Given the description of an element on the screen output the (x, y) to click on. 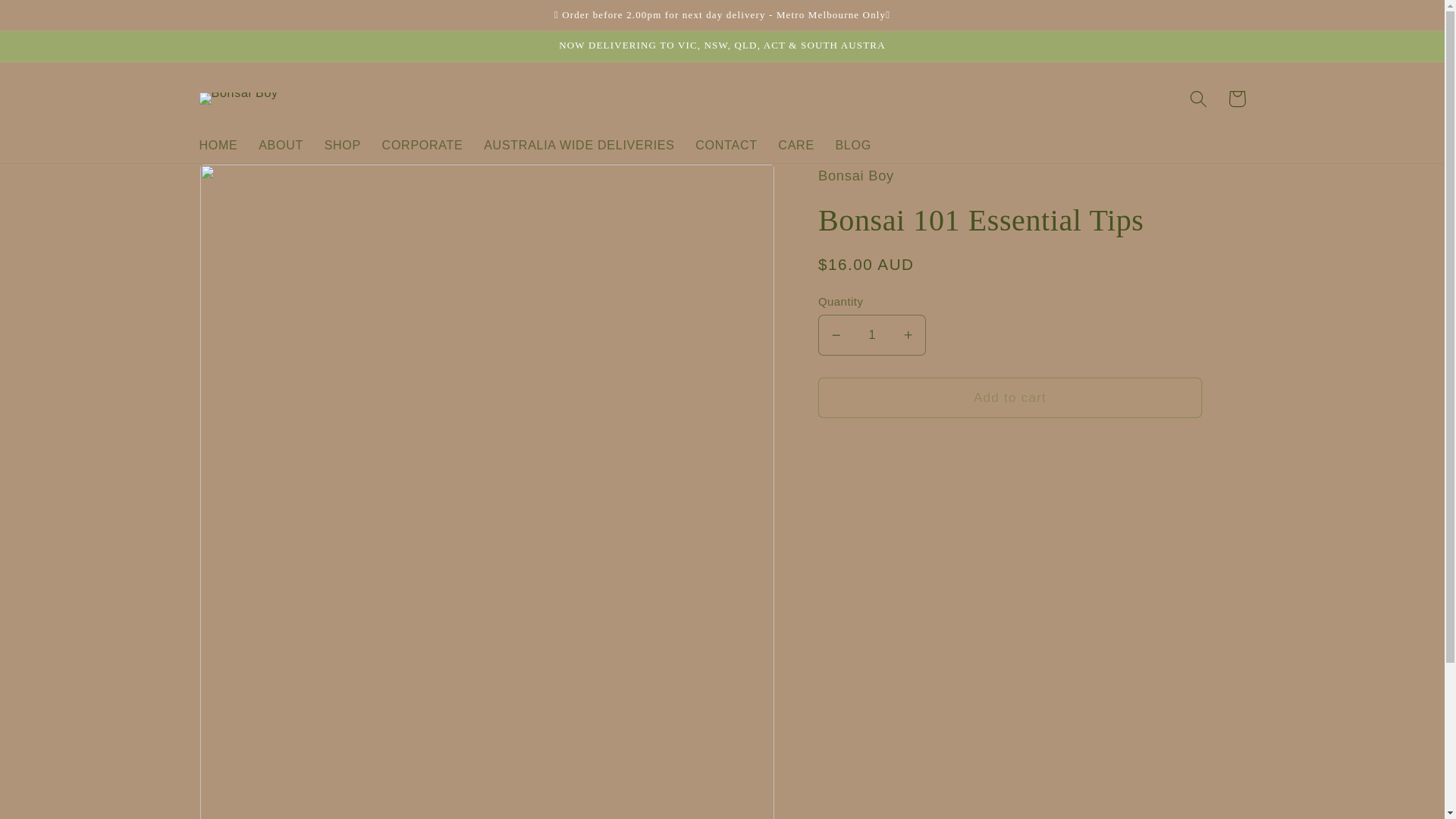
BLOG (853, 144)
CARE (796, 144)
Add to cart (1010, 397)
CORPORATE (422, 144)
AUSTRALIA WIDE DELIVERIES (578, 144)
Skip to product information (251, 182)
Cart (1236, 98)
HOME (218, 144)
1 (872, 334)
ABOUT (280, 144)
